Given the description of an element on the screen output the (x, y) to click on. 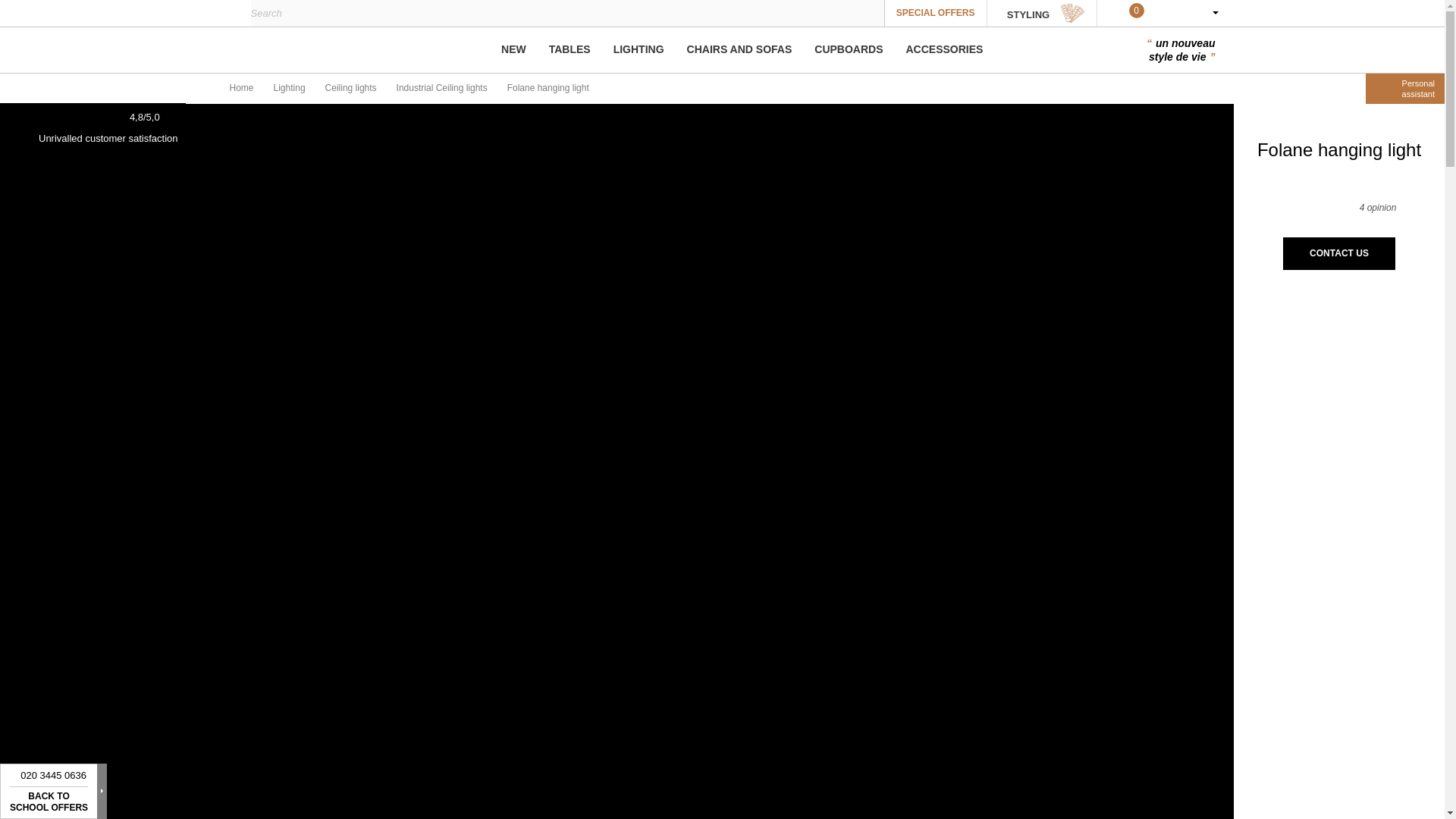
Armchairs, chairs and sofas (739, 49)
Styling (1041, 13)
Tables (569, 49)
CHAIRS AND SOFAS (739, 49)
Industrial Ceiling lights (441, 87)
Home (240, 87)
Vintage, industrial and shabby chic furniture (261, 49)
Armchairs, chairs and sofas (739, 49)
Ceiling lights (350, 87)
0 (467, 49)
